Given the description of an element on the screen output the (x, y) to click on. 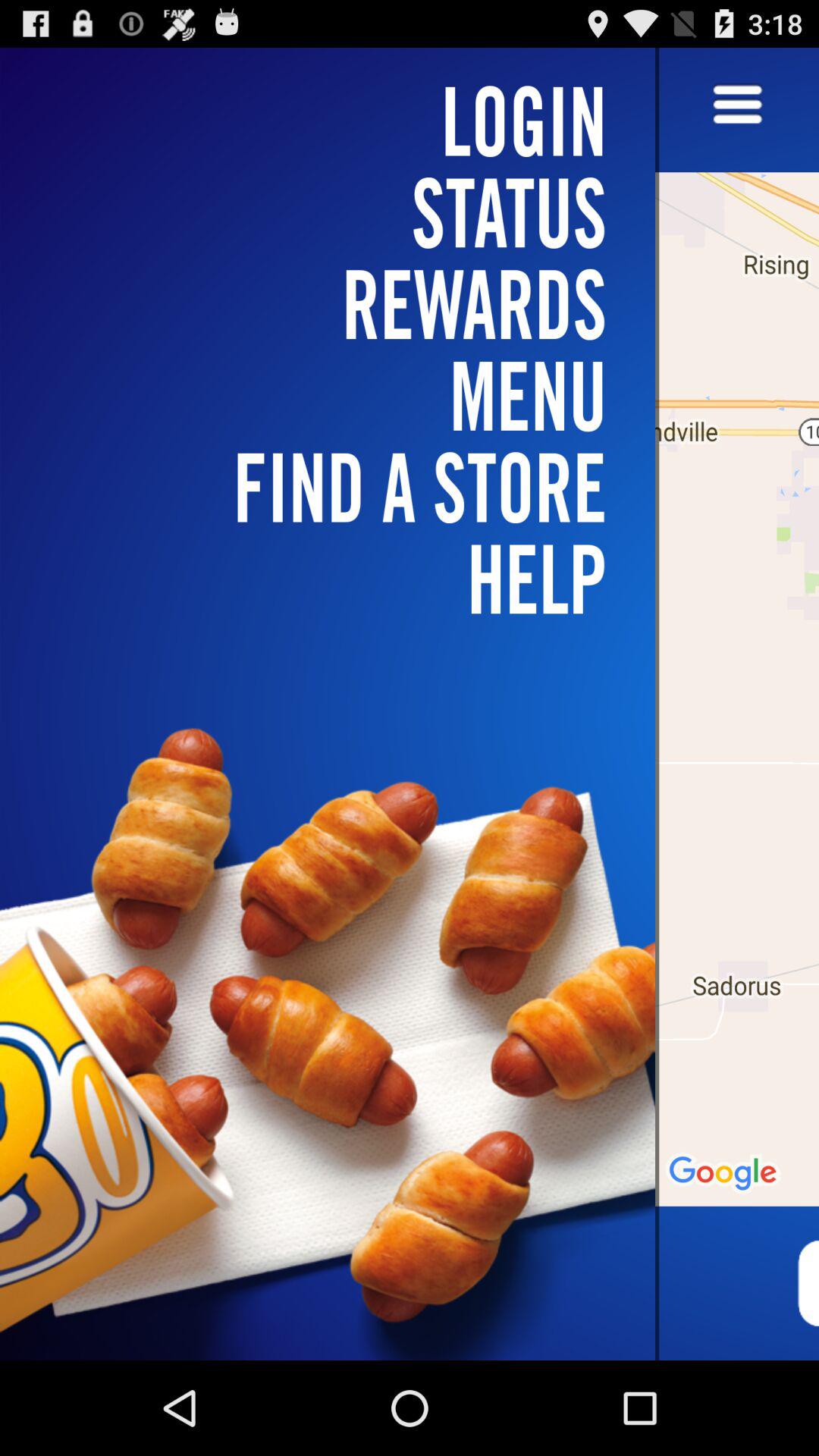
click icon above menu icon (336, 212)
